Given the description of an element on the screen output the (x, y) to click on. 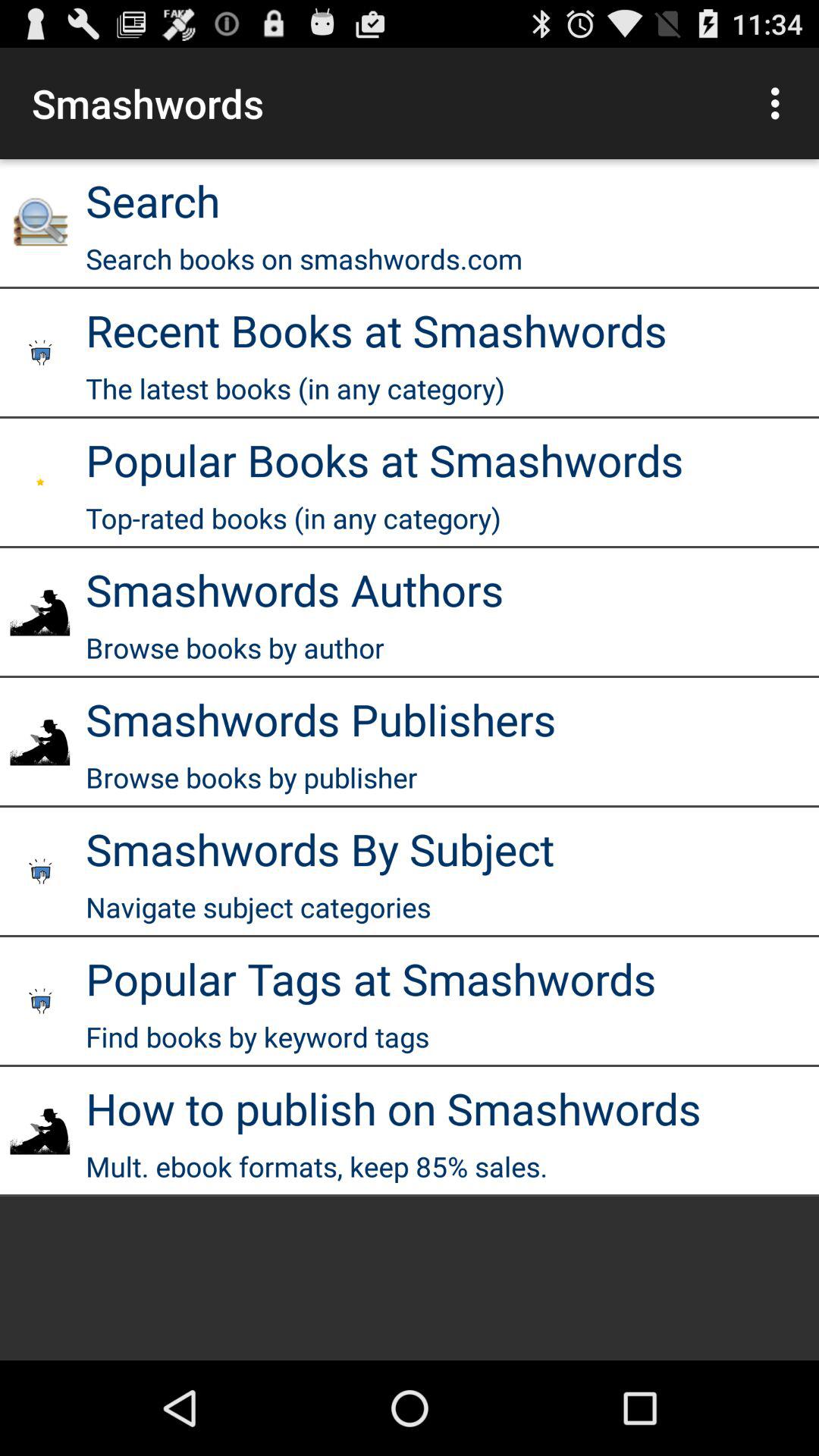
press icon above the popular tags at icon (258, 906)
